Given the description of an element on the screen output the (x, y) to click on. 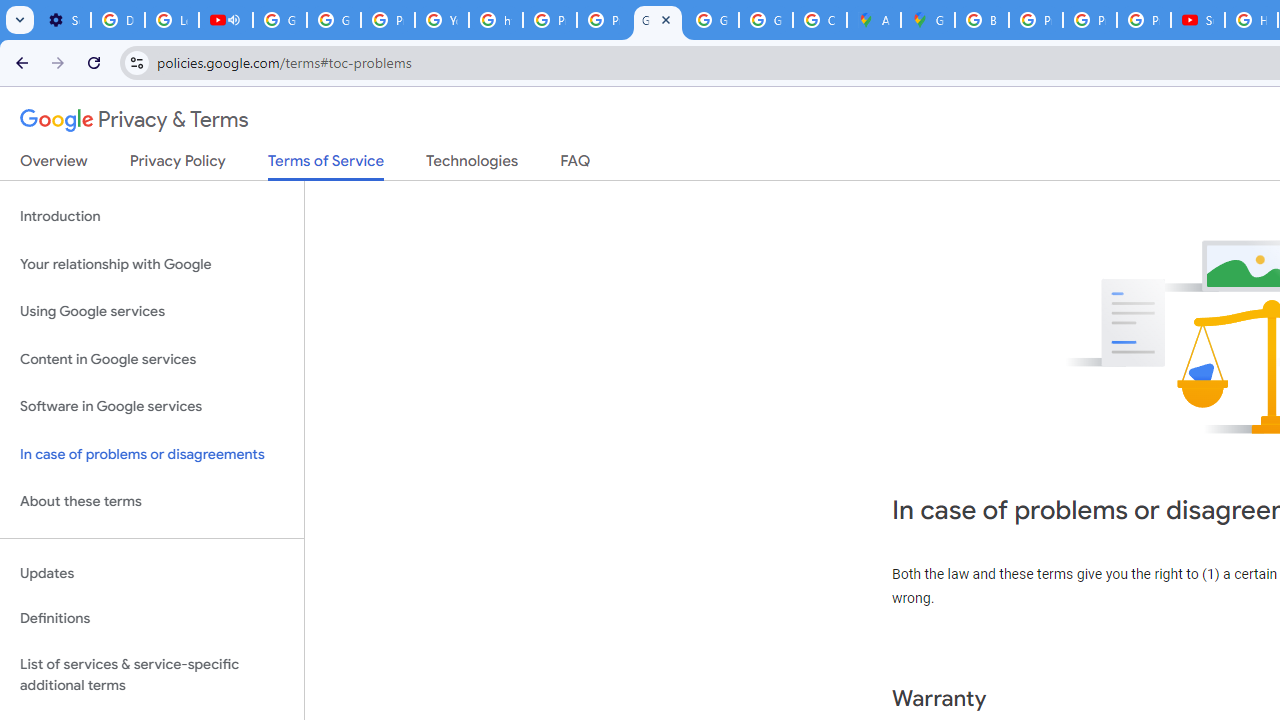
Delete photos & videos - Computer - Google Photos Help (117, 20)
